Given the description of an element on the screen output the (x, y) to click on. 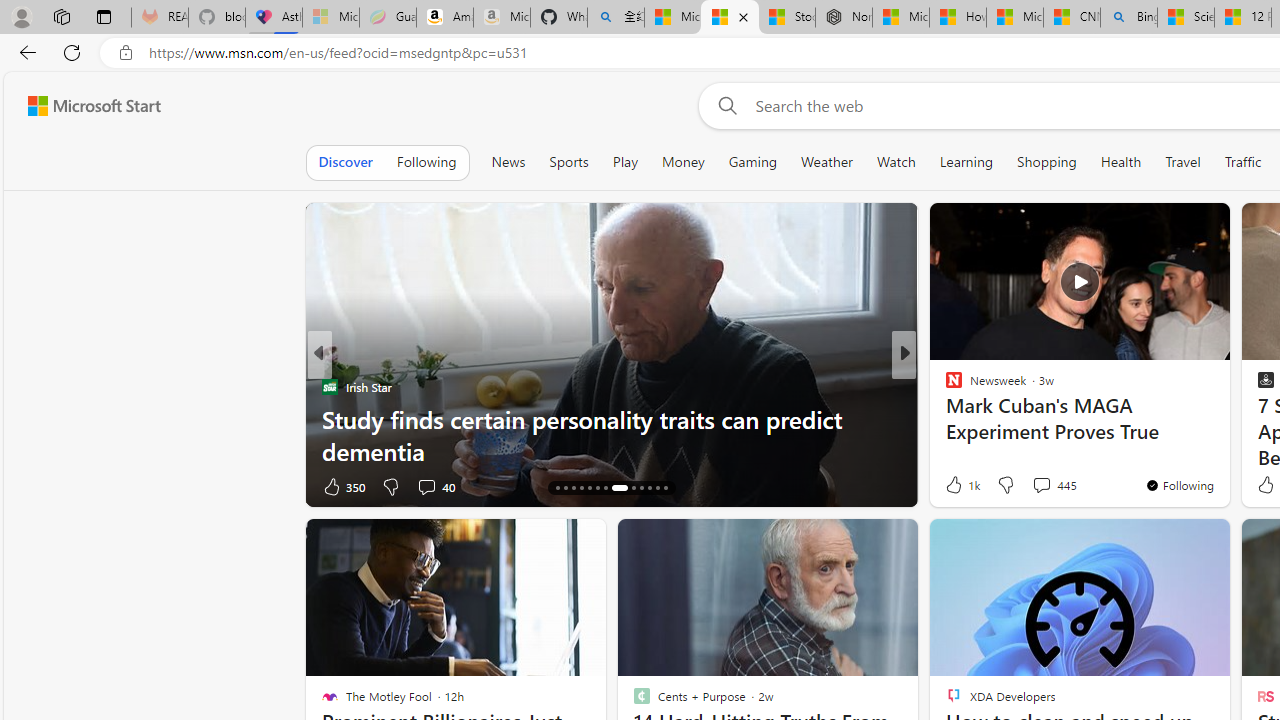
350 Like (342, 486)
View comments 445 Comment (1053, 484)
1k Like (961, 484)
